Given the description of an element on the screen output the (x, y) to click on. 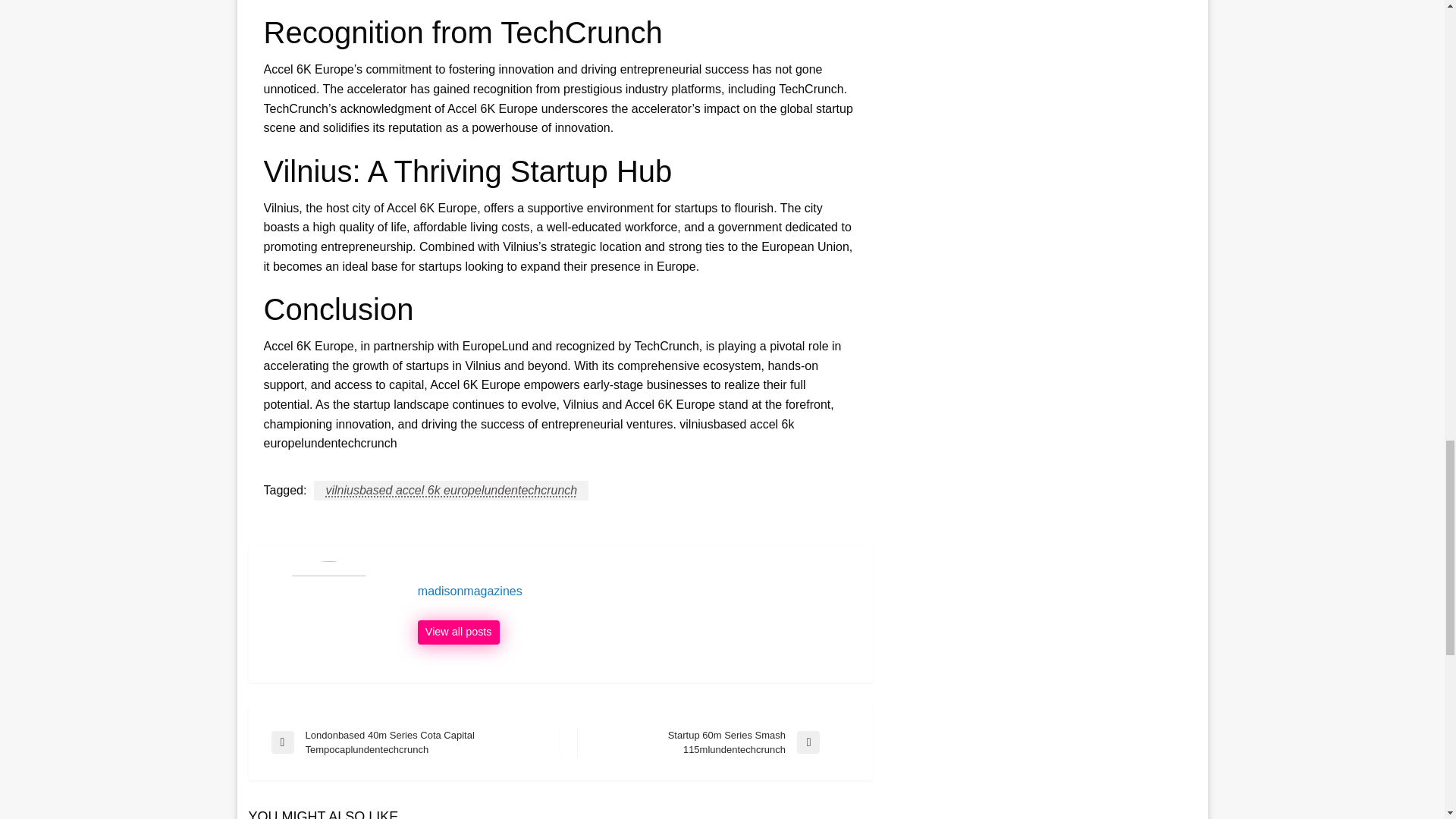
vilniusbased accel 6k europelundentechcrunch (451, 490)
madisonmagazines (713, 742)
madisonmagazines (637, 590)
madisonmagazines (637, 590)
View all posts (458, 631)
